Given the description of an element on the screen output the (x, y) to click on. 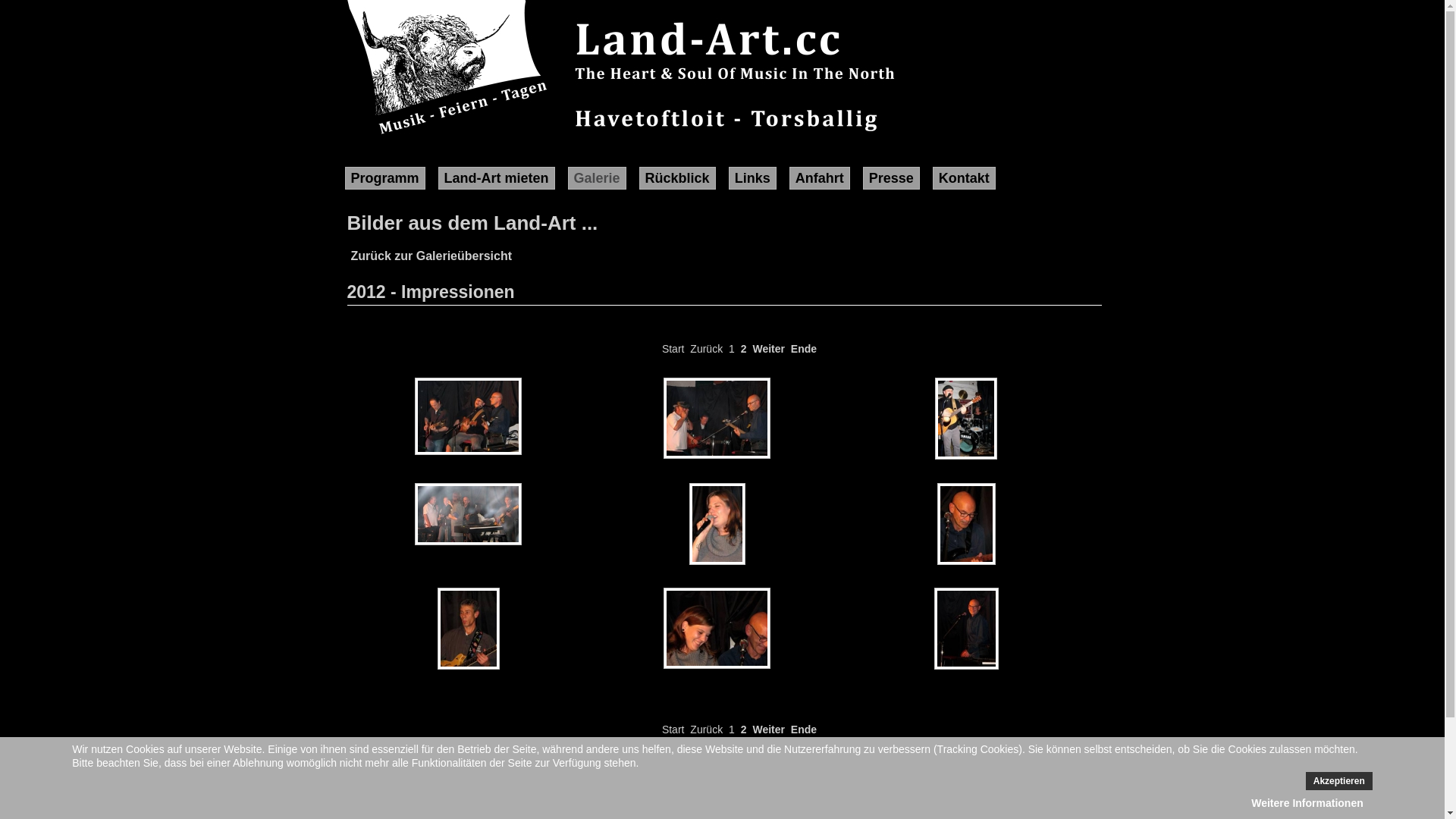
Impressionen 2012_4 Element type: hover (470, 516)
Kontakt Element type: text (963, 177)
Weiter Element type: text (768, 729)
2 Element type: text (743, 729)
2 Element type: text (743, 348)
Links Element type: text (752, 177)
Impressionen 2012_8 Element type: hover (719, 629)
Galerie Element type: text (596, 177)
Impressionen 2012_3 Element type: hover (967, 420)
Land-Art mieten Element type: text (496, 177)
Impressionen 2012_7 Element type: hover (470, 630)
Akzeptieren Element type: text (1338, 780)
Programm Element type: text (384, 177)
Impressionen 2012_2 Element type: hover (719, 419)
Impressionen 2012_6 Element type: hover (967, 525)
Ende Element type: text (803, 348)
Weitere Informationen Element type: text (1307, 802)
Anfahrt Element type: text (819, 177)
Weiter Element type: text (768, 348)
Ende Element type: text (803, 729)
Impressionen 2012_9 Element type: hover (967, 630)
Impressionen 2012_5 Element type: hover (719, 525)
Presse Element type: text (890, 177)
Impressionen 2012_1 Element type: hover (470, 417)
